Given the description of an element on the screen output the (x, y) to click on. 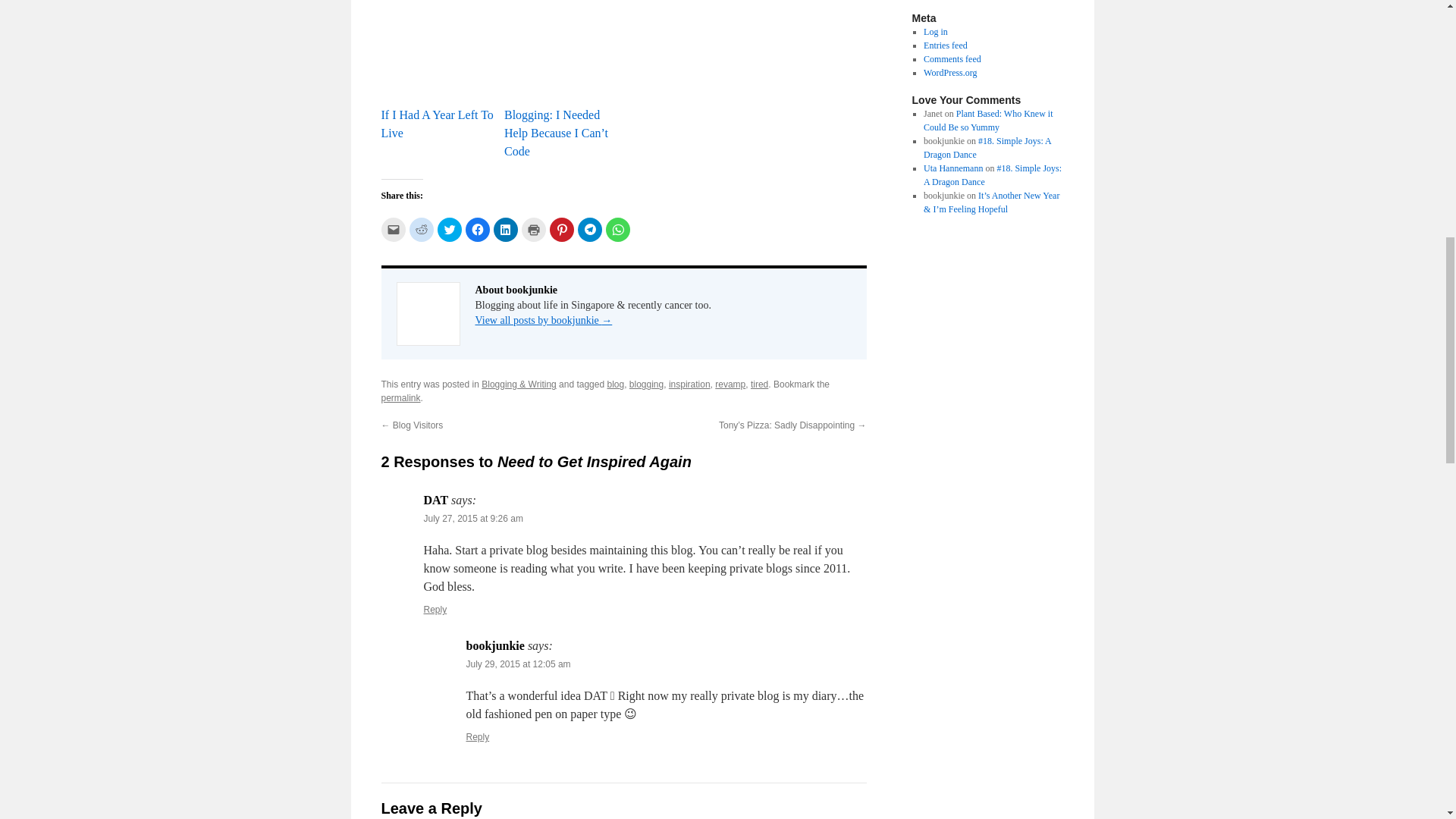
inspiration (689, 384)
Click to share on Twitter (448, 229)
Click to print (533, 229)
Click to share on LinkedIn (504, 229)
tired (759, 384)
permalink (400, 398)
revamp (729, 384)
Click to share on Reddit (421, 229)
Click to email a link to a friend (392, 229)
Click to share on Facebook (477, 229)
